Given the description of an element on the screen output the (x, y) to click on. 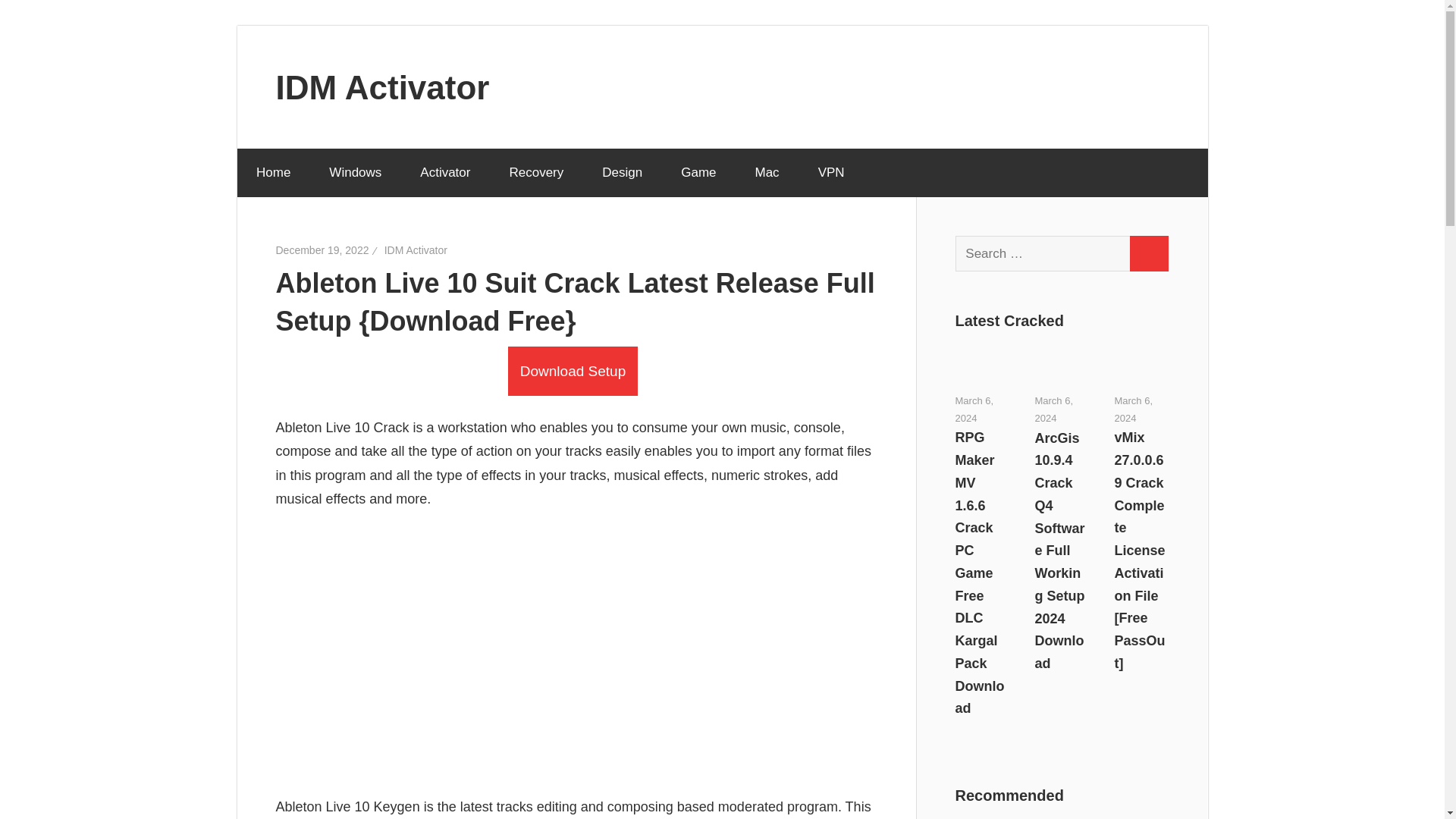
Mac (766, 172)
12:40 pm (1133, 409)
Search (1148, 253)
December 19, 2022 (322, 250)
Windows (355, 172)
Activator (445, 172)
Home (271, 172)
Game (698, 172)
2:44 pm (322, 250)
